Given the description of an element on the screen output the (x, y) to click on. 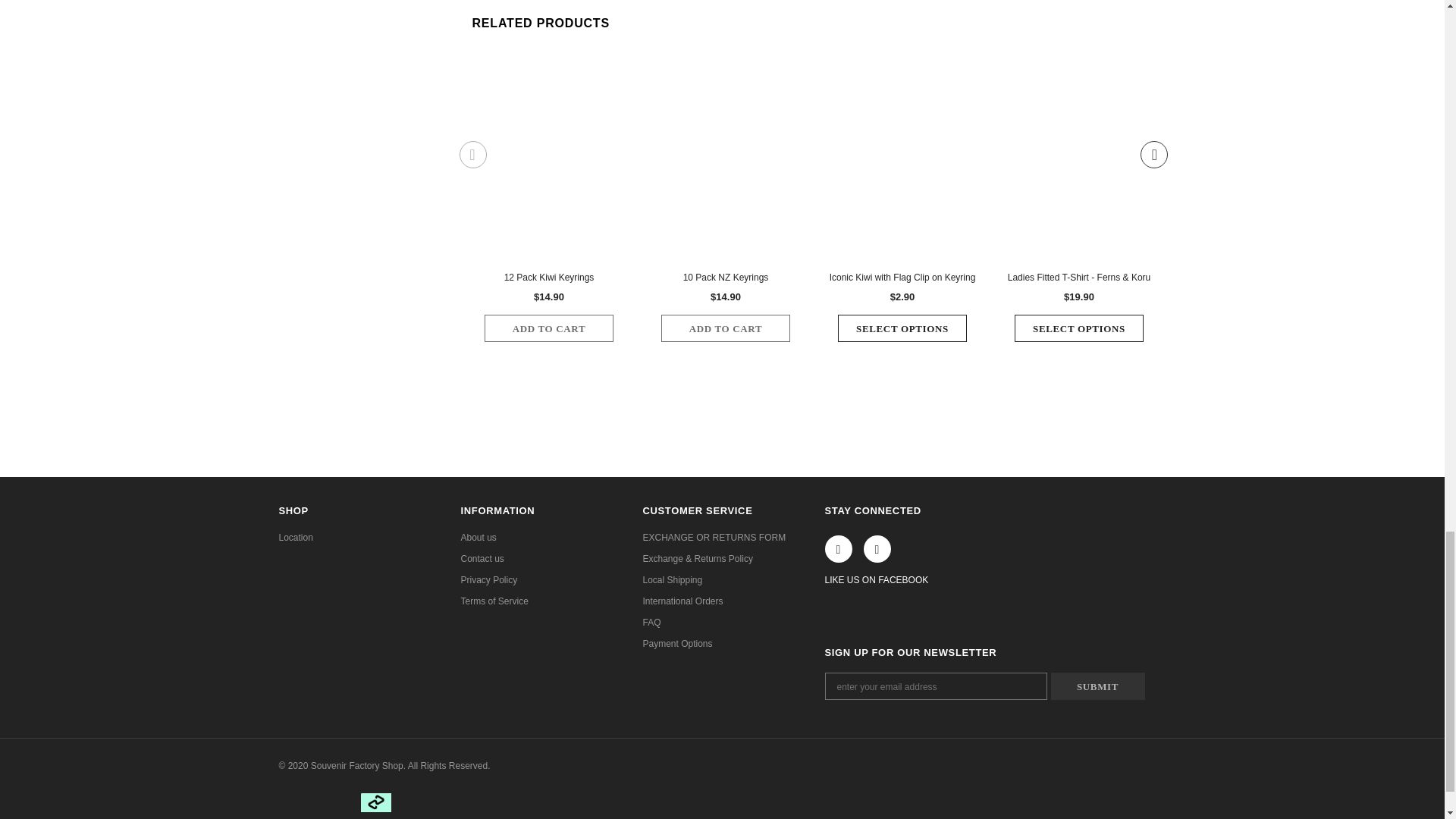
Submit (1097, 686)
